Given the description of an element on the screen output the (x, y) to click on. 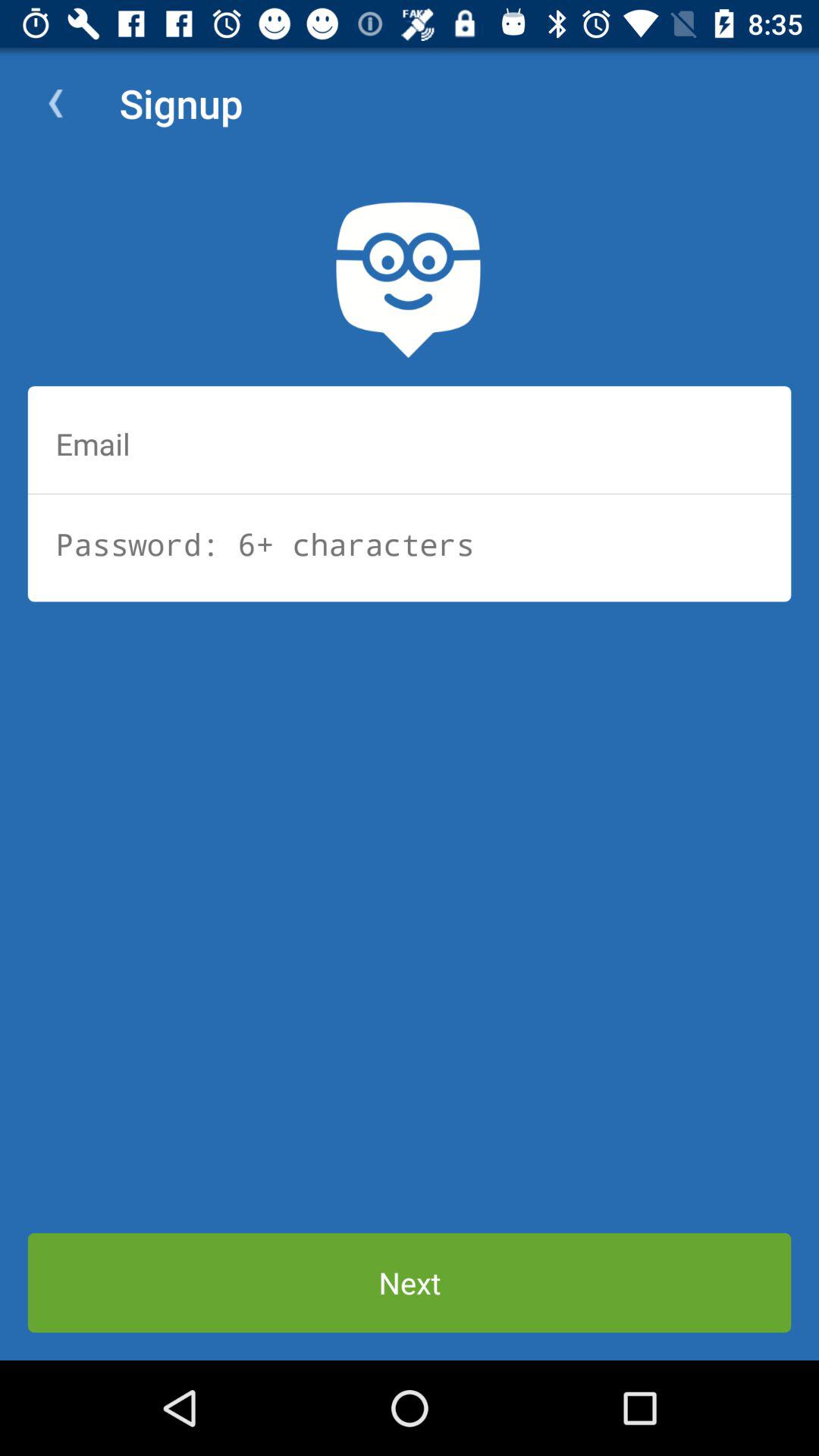
turn on the next icon (409, 1282)
